Given the description of an element on the screen output the (x, y) to click on. 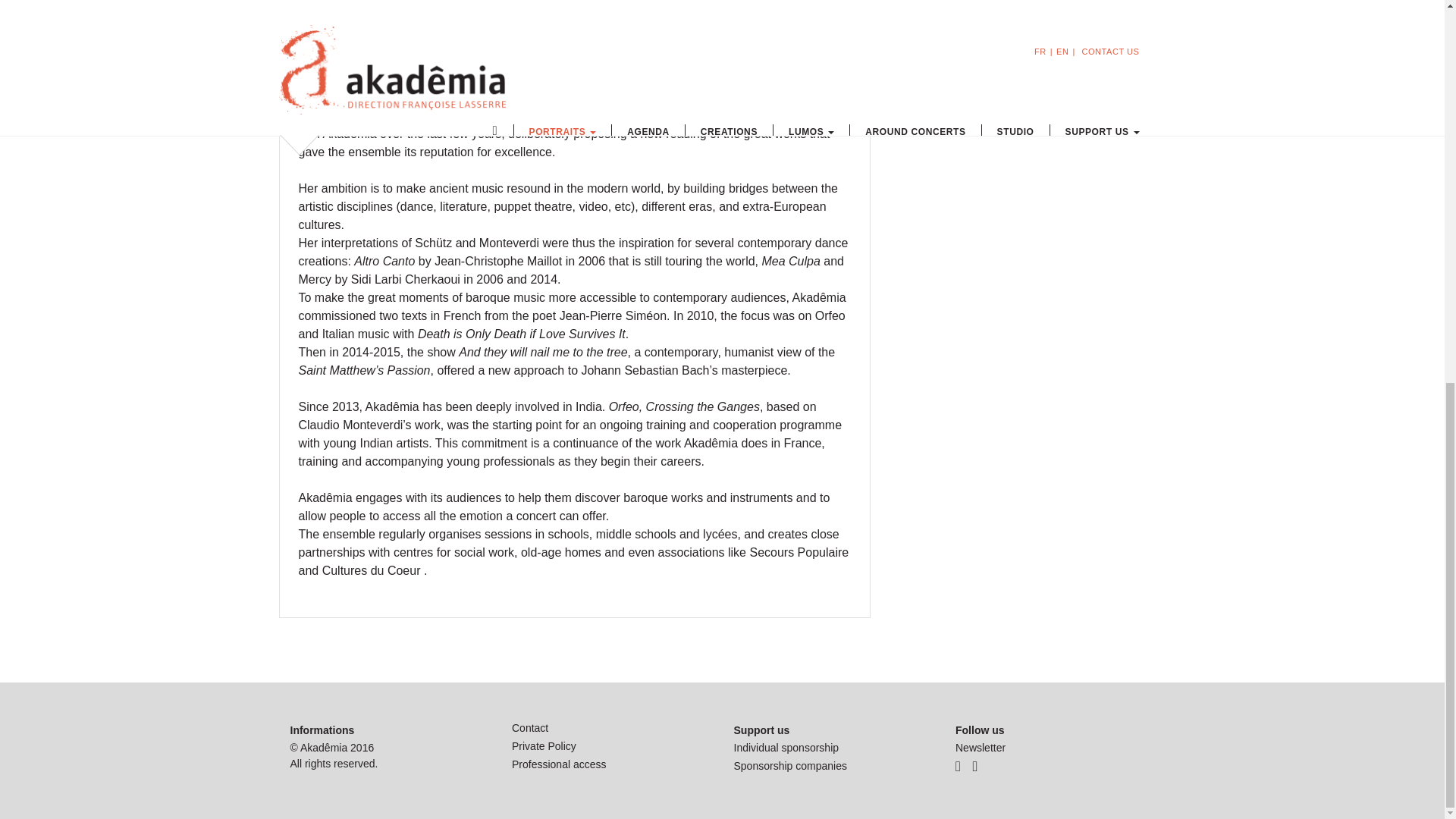
Contact (530, 727)
Artists (1033, 3)
Discography (1033, 27)
Sponsorship companies (790, 766)
Individual sponsorship (786, 747)
Professional access (559, 764)
Newsletter (980, 747)
Private Policy (544, 746)
